Given the description of an element on the screen output the (x, y) to click on. 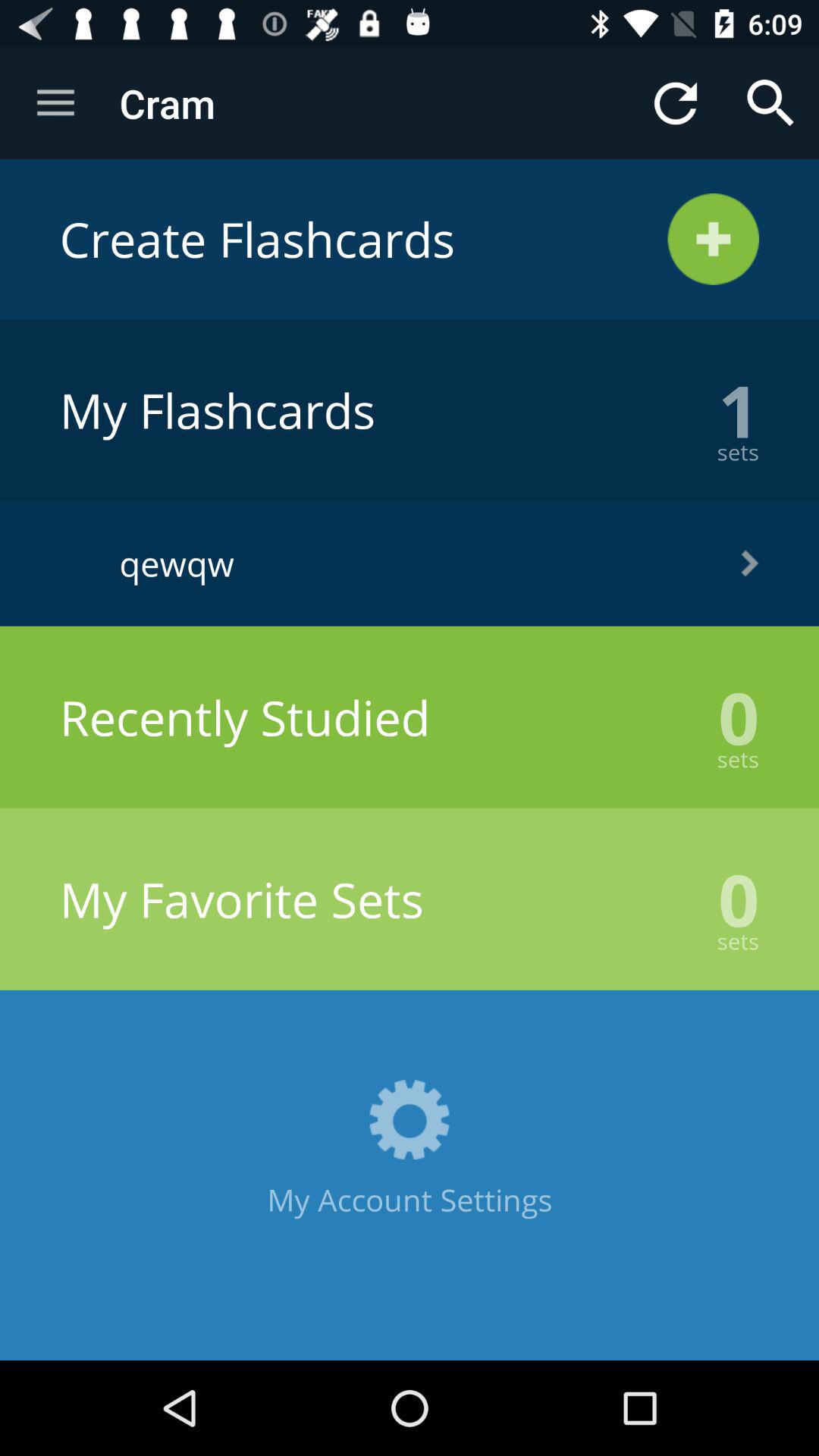
select icon to the left of the cram icon (55, 103)
